Given the description of an element on the screen output the (x, y) to click on. 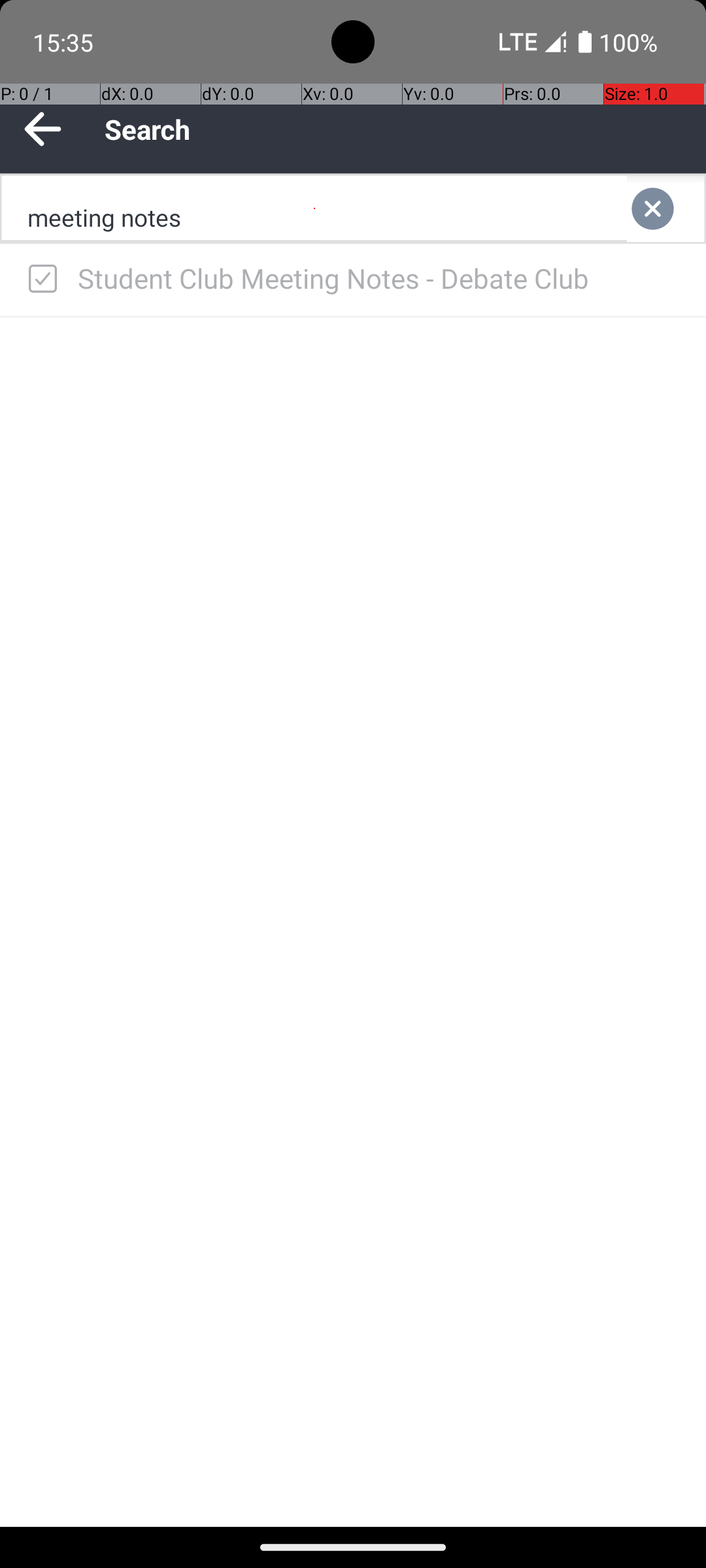
meeting notes Element type: android.widget.EditText (313, 208)
 Element type: android.widget.TextView (665, 208)
to-do: Student Club Meeting Notes - Debate Club Element type: android.widget.CheckBox (38, 279)
Student Club Meeting Notes - Debate Club Element type: android.widget.TextView (378, 277)
